Given the description of an element on the screen output the (x, y) to click on. 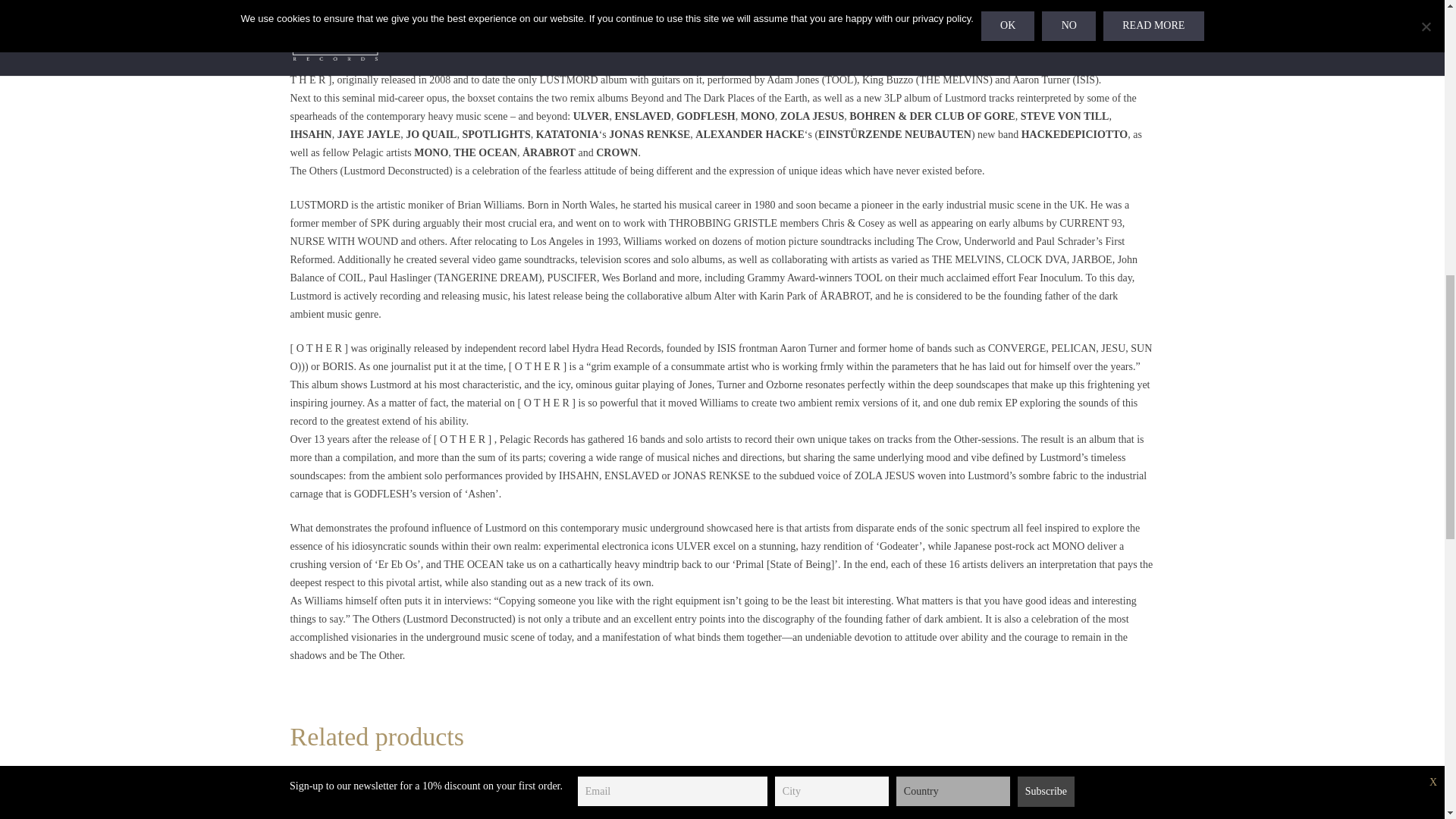
Back to top (1413, 26)
Page 3 (721, 628)
